Given the description of an element on the screen output the (x, y) to click on. 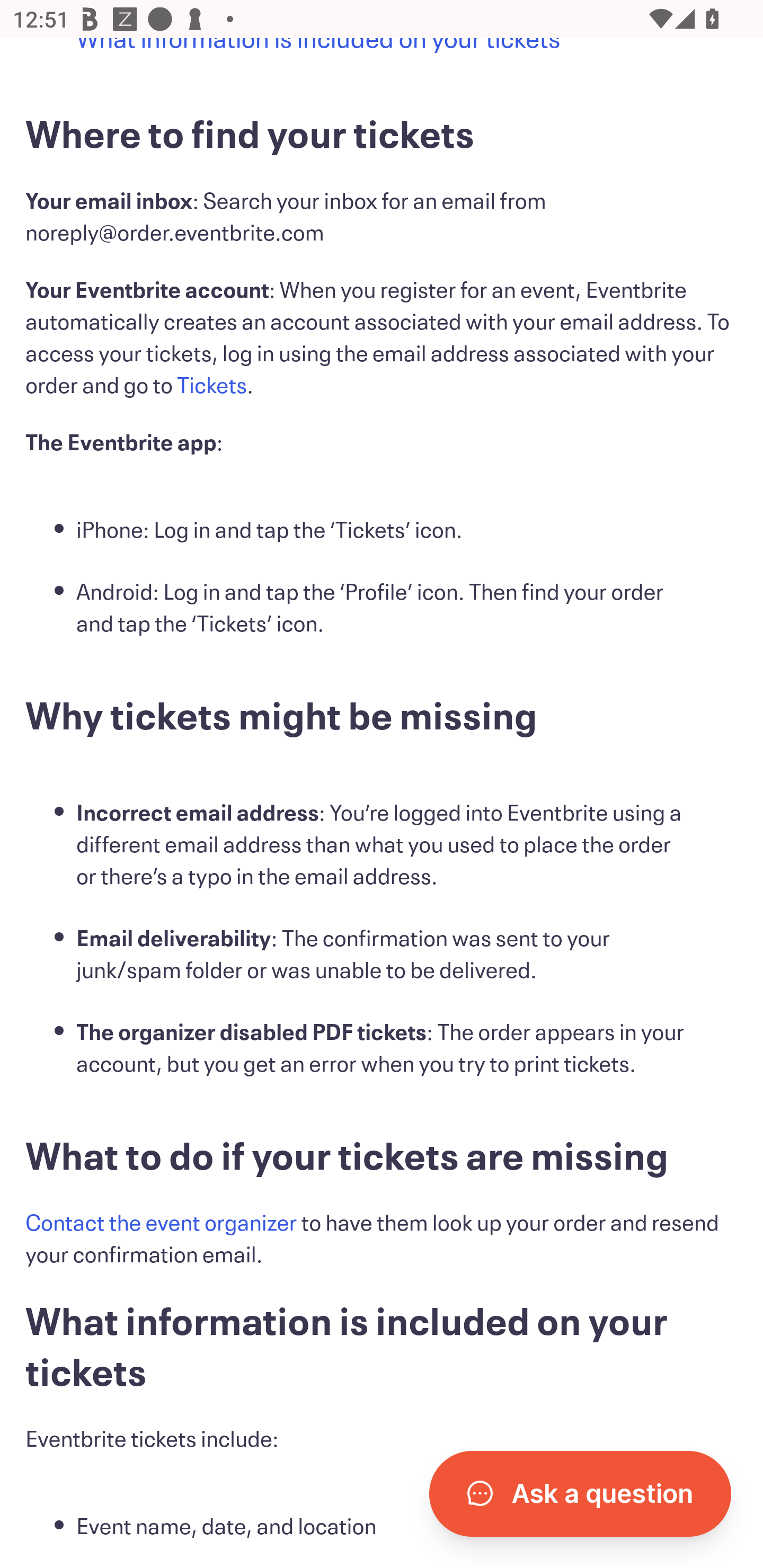
Tickets (211, 387)
Contact the event organizer (161, 1225)
Open Chatbot (579, 1494)
